Given the description of an element on the screen output the (x, y) to click on. 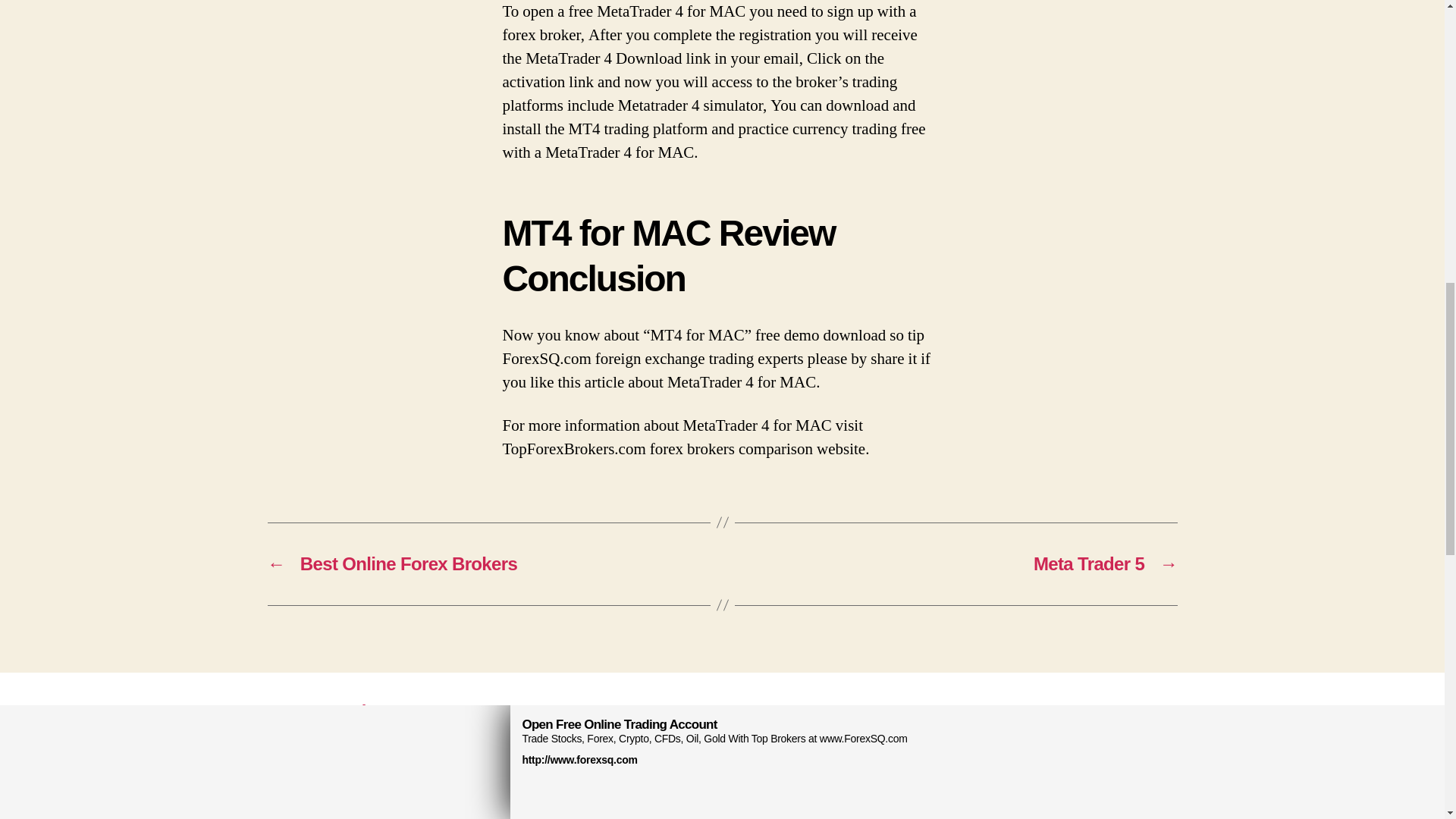
Write For Us (390, 711)
Contact Us (508, 711)
Home (290, 711)
